Given the description of an element on the screen output the (x, y) to click on. 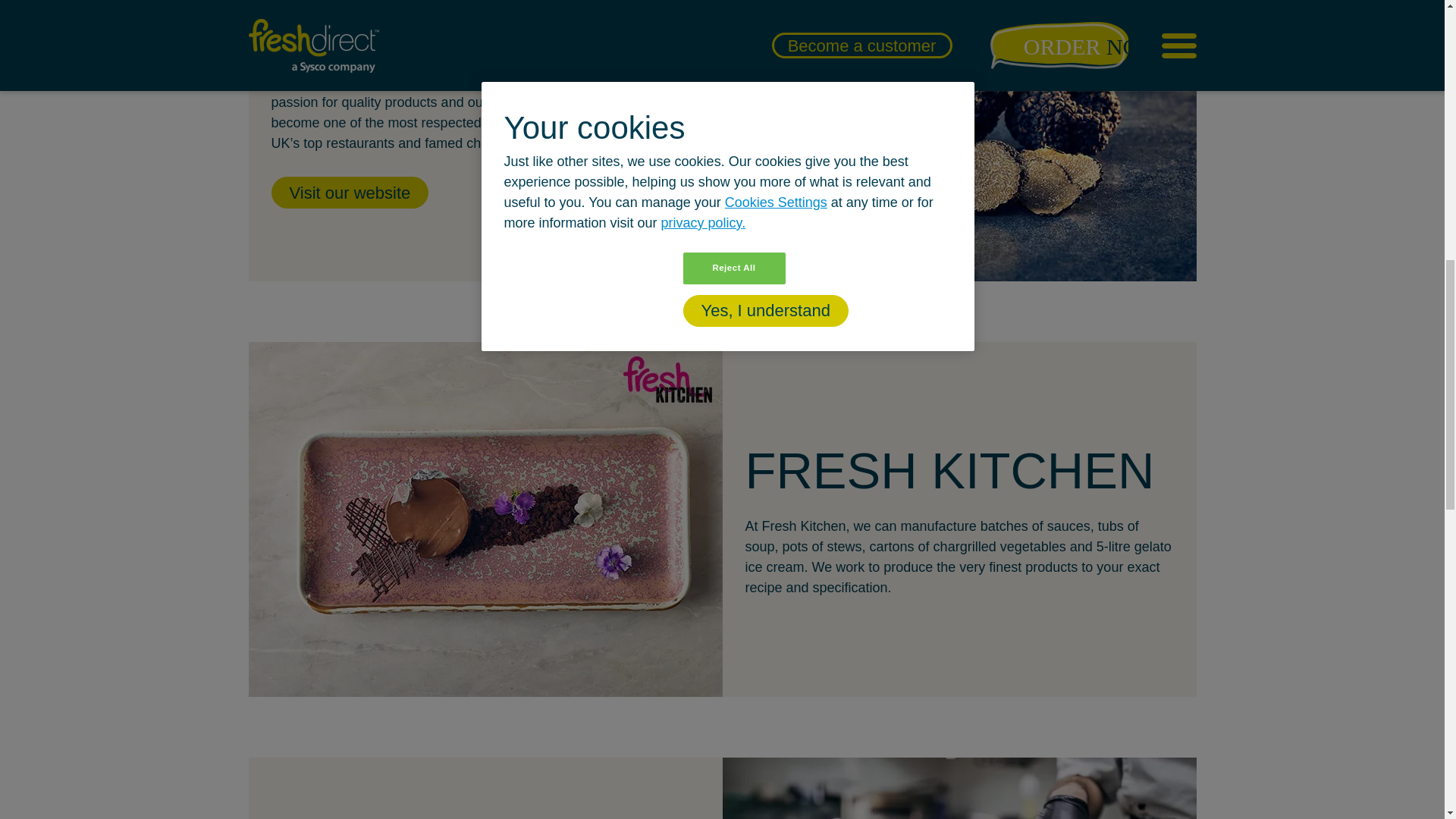
Visit our website (349, 192)
